Given the description of an element on the screen output the (x, y) to click on. 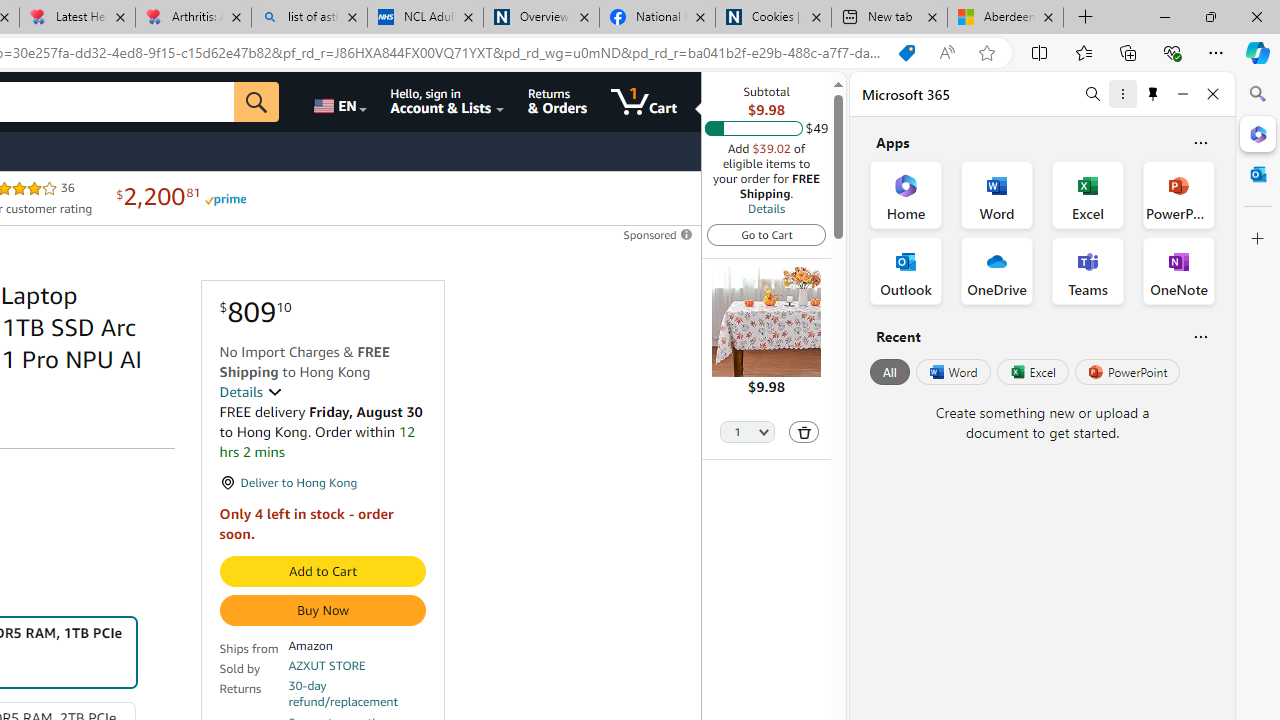
Teams Office App (1087, 270)
Buy Now (322, 610)
1 item in cart (643, 101)
OneDrive Office App (996, 270)
Home Office App (906, 194)
Delete (803, 431)
PowerPoint Office App (1178, 194)
AZXUT STORE (327, 665)
All (890, 372)
